Given the description of an element on the screen output the (x, y) to click on. 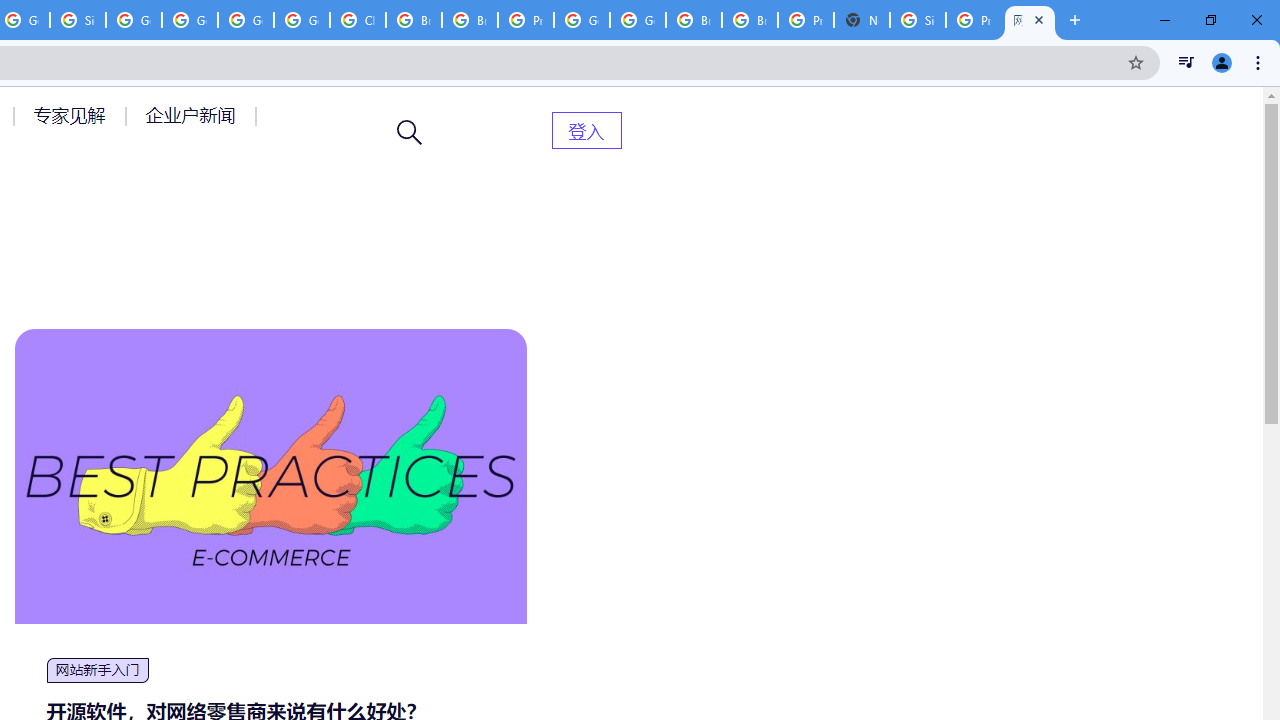
Browse Chrome as a guest - Computer - Google Chrome Help (749, 20)
AutomationID: menu-item-77765 (194, 115)
Google Cloud Platform (245, 20)
Google Cloud Platform (637, 20)
